Given the description of an element on the screen output the (x, y) to click on. 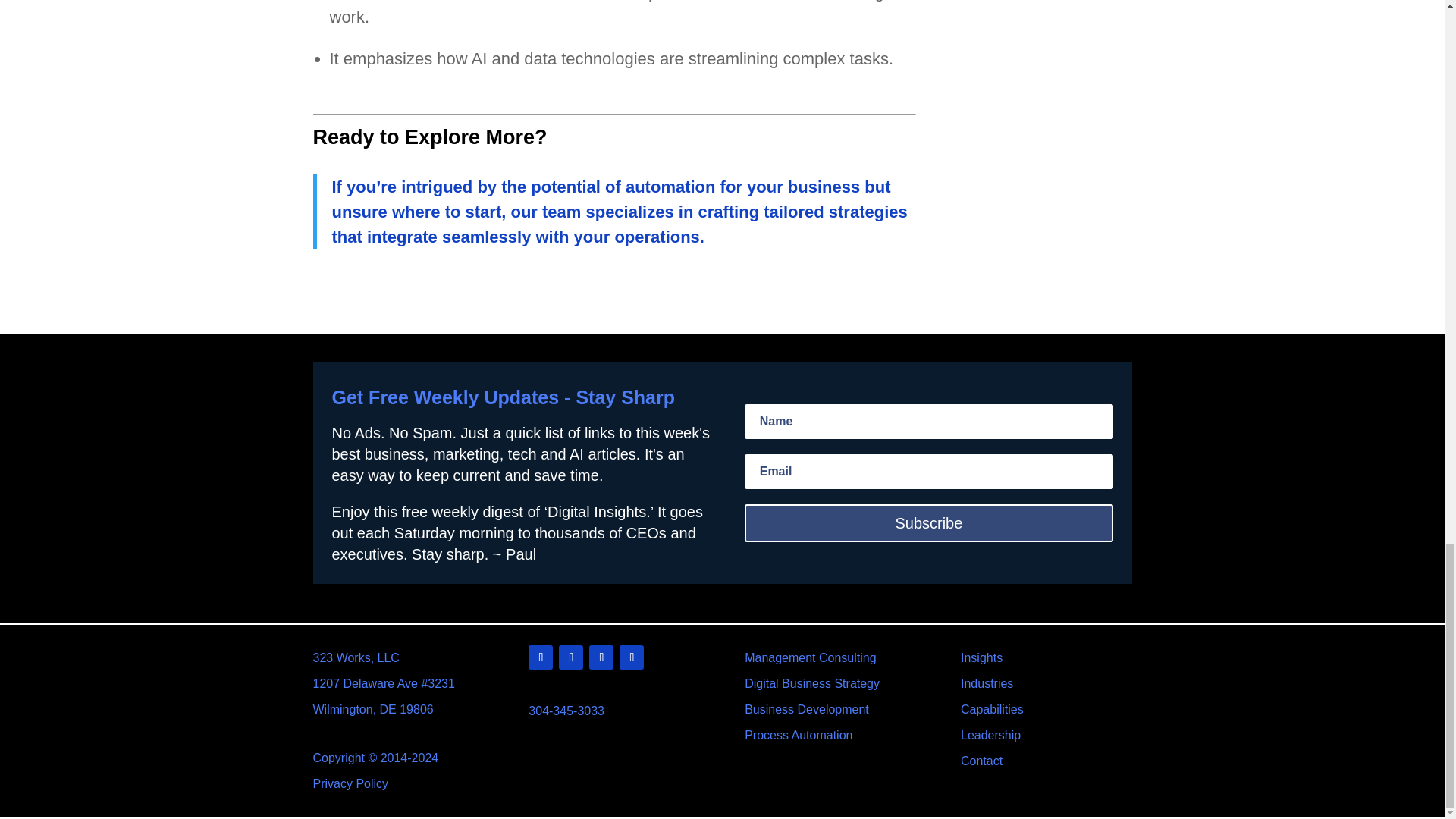
Contact (981, 760)
Subscribe (928, 523)
Follow on Instagram (631, 657)
Digital Business Strategy (811, 683)
Business Development (806, 708)
Industries (986, 683)
Leadership (990, 735)
Follow on LinkedIn (540, 657)
Privacy Policy (350, 783)
304-345-3033 (566, 710)
Process Automation (797, 735)
Follow on X (571, 657)
Management Consulting (810, 657)
Follow on Facebook (600, 657)
Capabilities (991, 708)
